Given the description of an element on the screen output the (x, y) to click on. 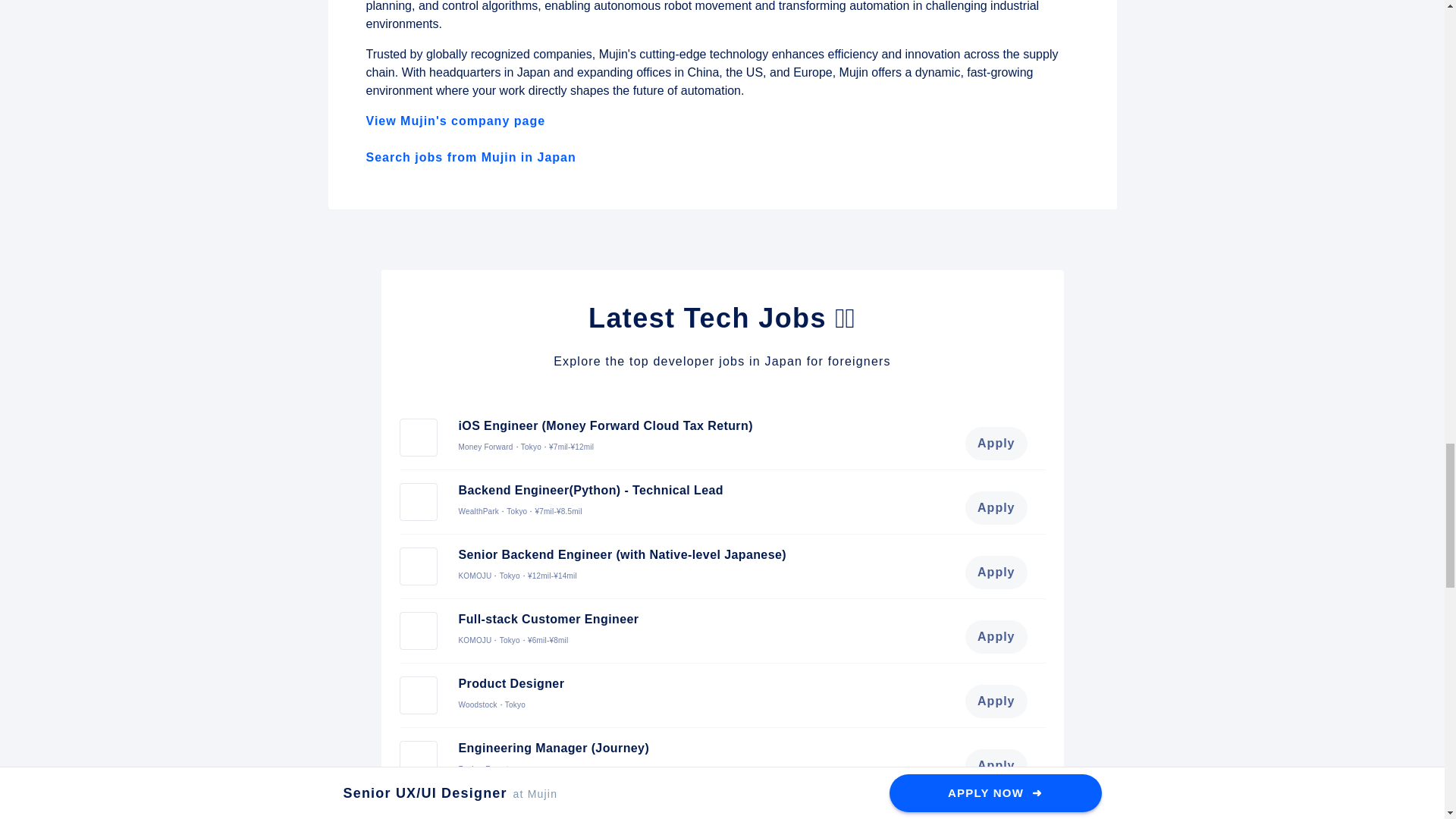
Search jobs from Mujin in Japan (470, 156)
Apply (995, 443)
View Mujin's company page (454, 120)
